Given the description of an element on the screen output the (x, y) to click on. 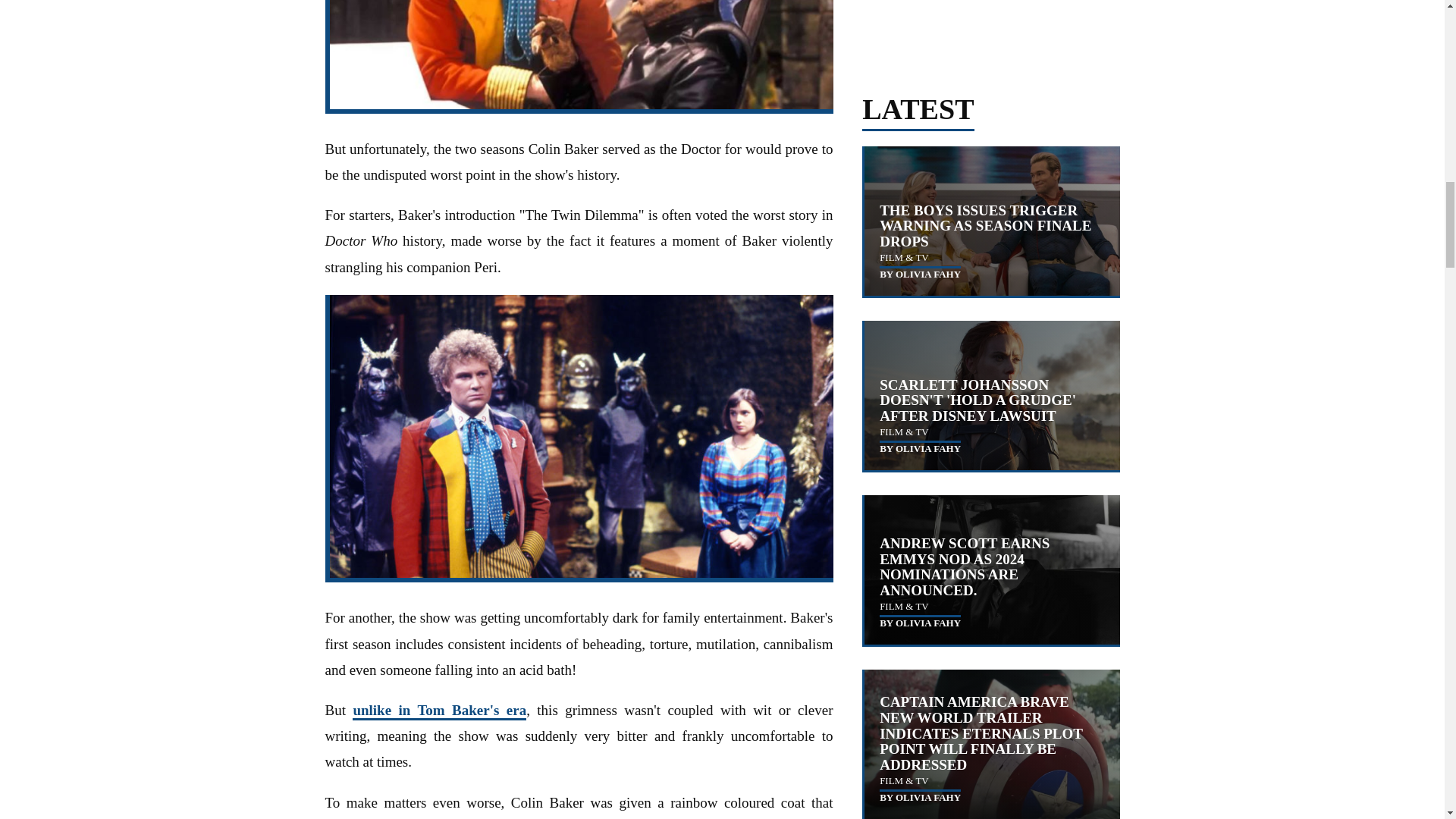
unlike in Tom Baker's era (438, 710)
